Given the description of an element on the screen output the (x, y) to click on. 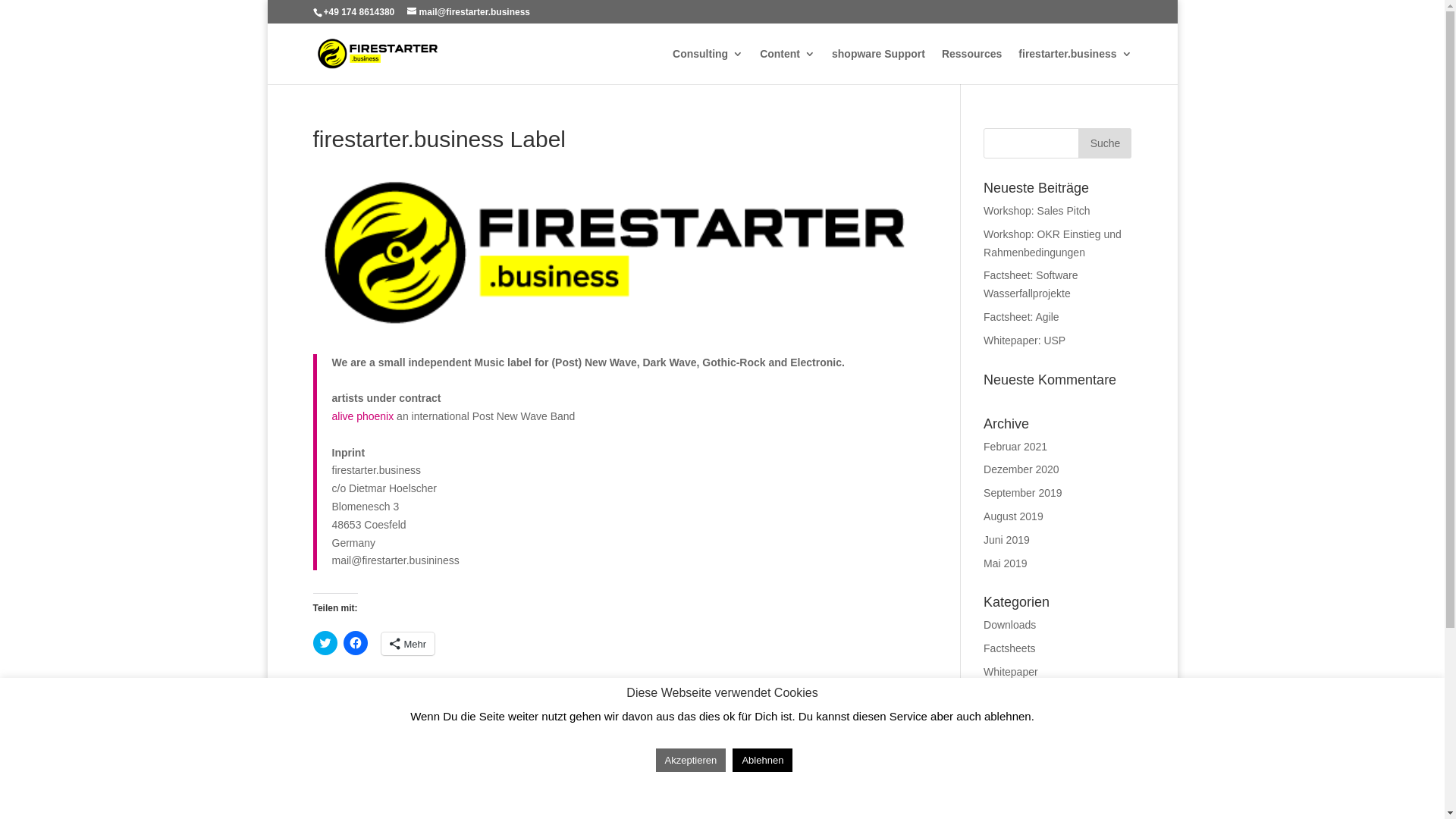
Anmelden Element type: text (1007, 757)
Kommentare-Feed Element type: text (1027, 803)
Workshop: Sales Pitch Element type: text (1036, 210)
Downloads Element type: text (1009, 624)
Akzeptieren Element type: text (690, 759)
Ressources Element type: text (971, 66)
Workshop: OKR Einstieg und Rahmenbedingungen Element type: text (1052, 243)
Consulting Element type: text (707, 66)
firestarter.business Element type: text (1074, 66)
Mai 2019 Element type: text (1005, 563)
alive phoenix Element type: text (363, 416)
Mehr Element type: text (407, 643)
Juni 2019 Element type: text (1006, 539)
Factsheets Element type: text (1009, 648)
Whitepaper Element type: text (1010, 671)
Factsheet: Software Wasserfallprojekte Element type: text (1030, 284)
Workshop Element type: text (1007, 695)
Content Element type: text (787, 66)
Factsheet: Agile Element type: text (1021, 316)
Februar 2021 Element type: text (1015, 446)
mail@firestarter.business Element type: text (468, 11)
shopware Support Element type: text (878, 66)
August 2019 Element type: text (1013, 516)
Dezember 2020 Element type: text (1021, 469)
Ablehnen Element type: text (762, 759)
Whitepaper: USP Element type: text (1024, 340)
weitere Informationen Element type: text (722, 799)
Suche Element type: text (1104, 143)
September 2019 Element type: text (1022, 492)
